Given the description of an element on the screen output the (x, y) to click on. 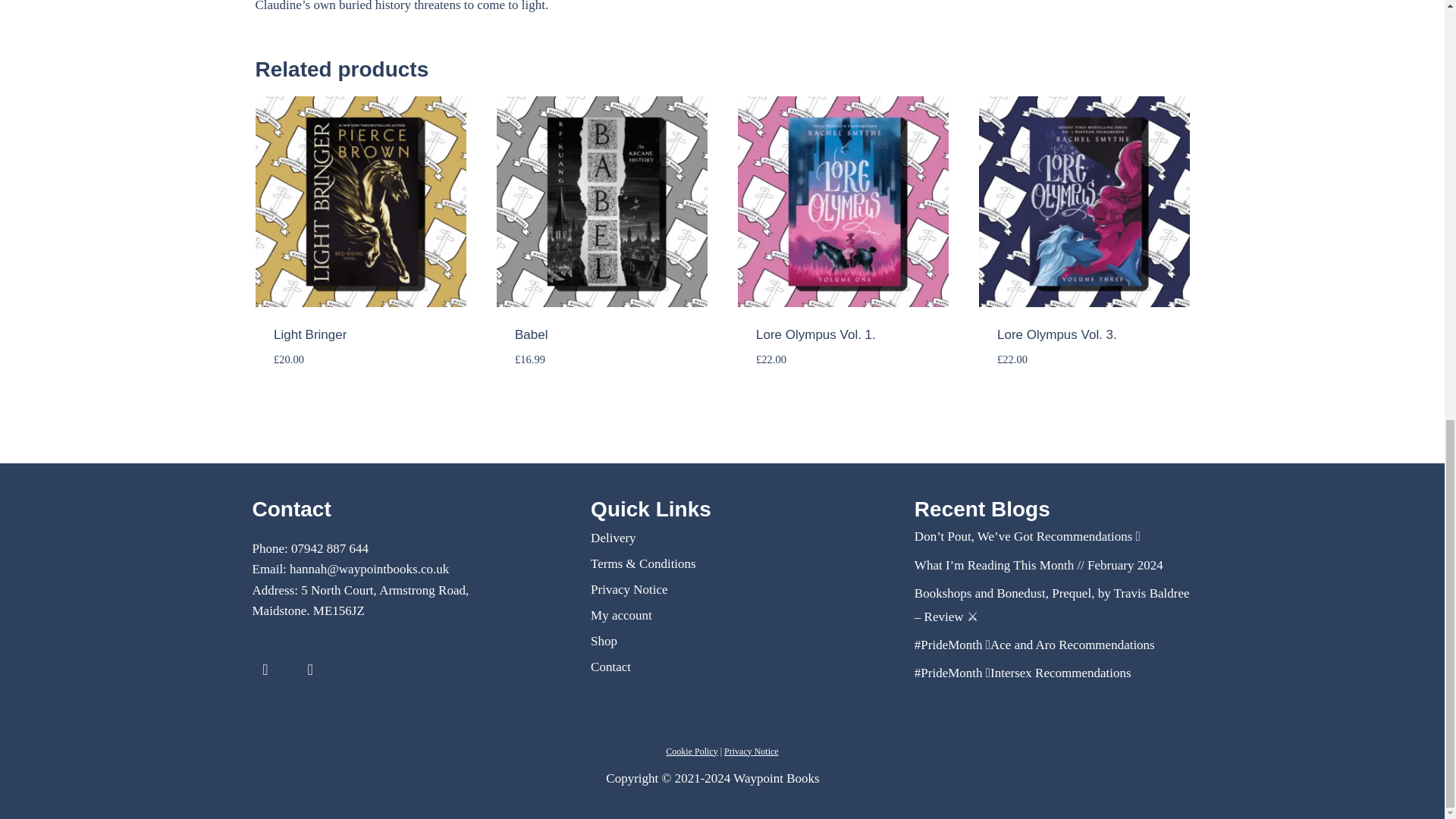
Lore Olympus Vol. 3. (1056, 334)
Light Bringer (309, 334)
kent website design by fairly marvellous (1182, 777)
07942 887 644 (329, 548)
Babel (531, 334)
Lore Olympus Vol. 1. (815, 334)
